Given the description of an element on the screen output the (x, y) to click on. 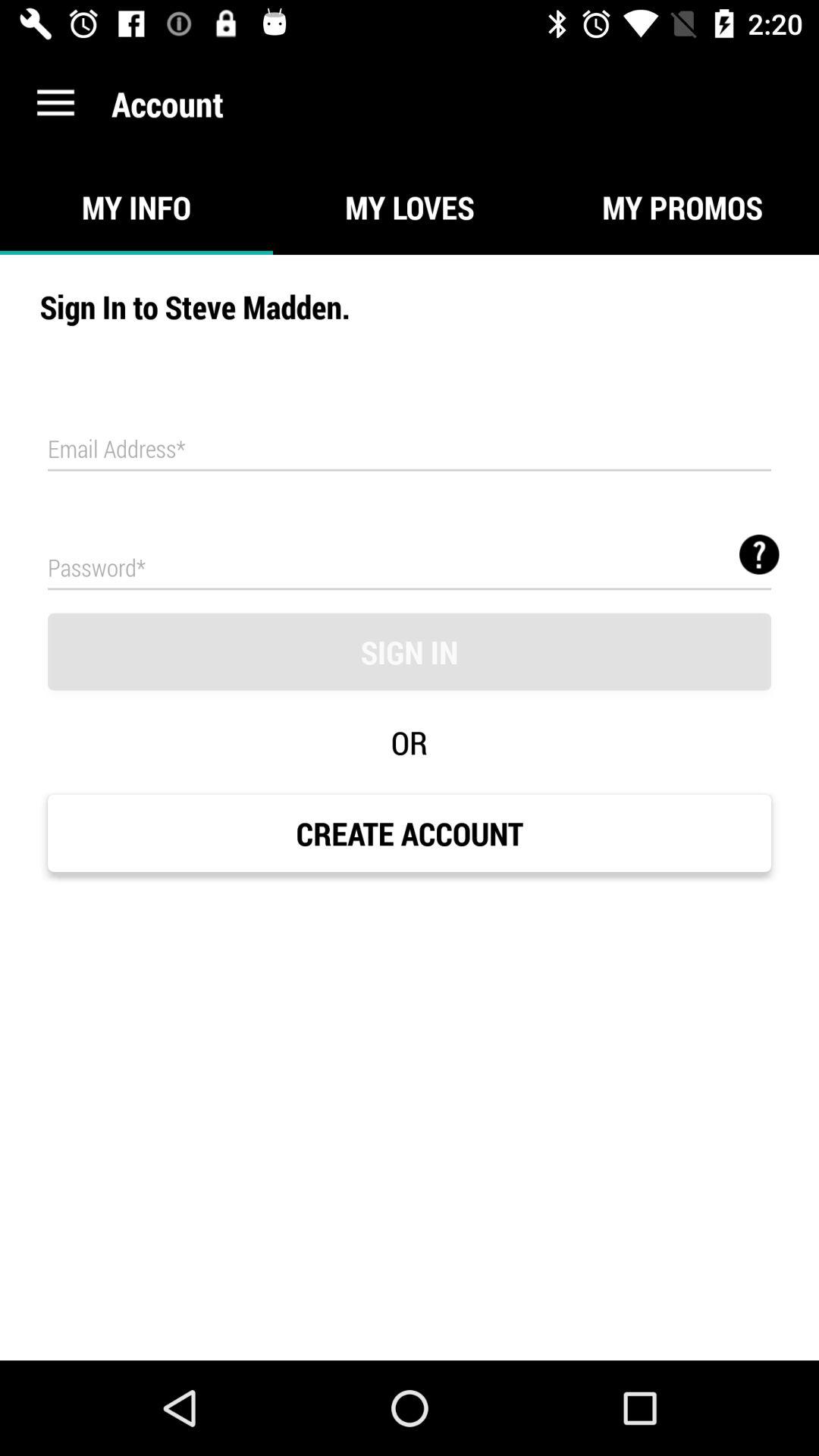
enter email address (409, 449)
